Given the description of an element on the screen output the (x, y) to click on. 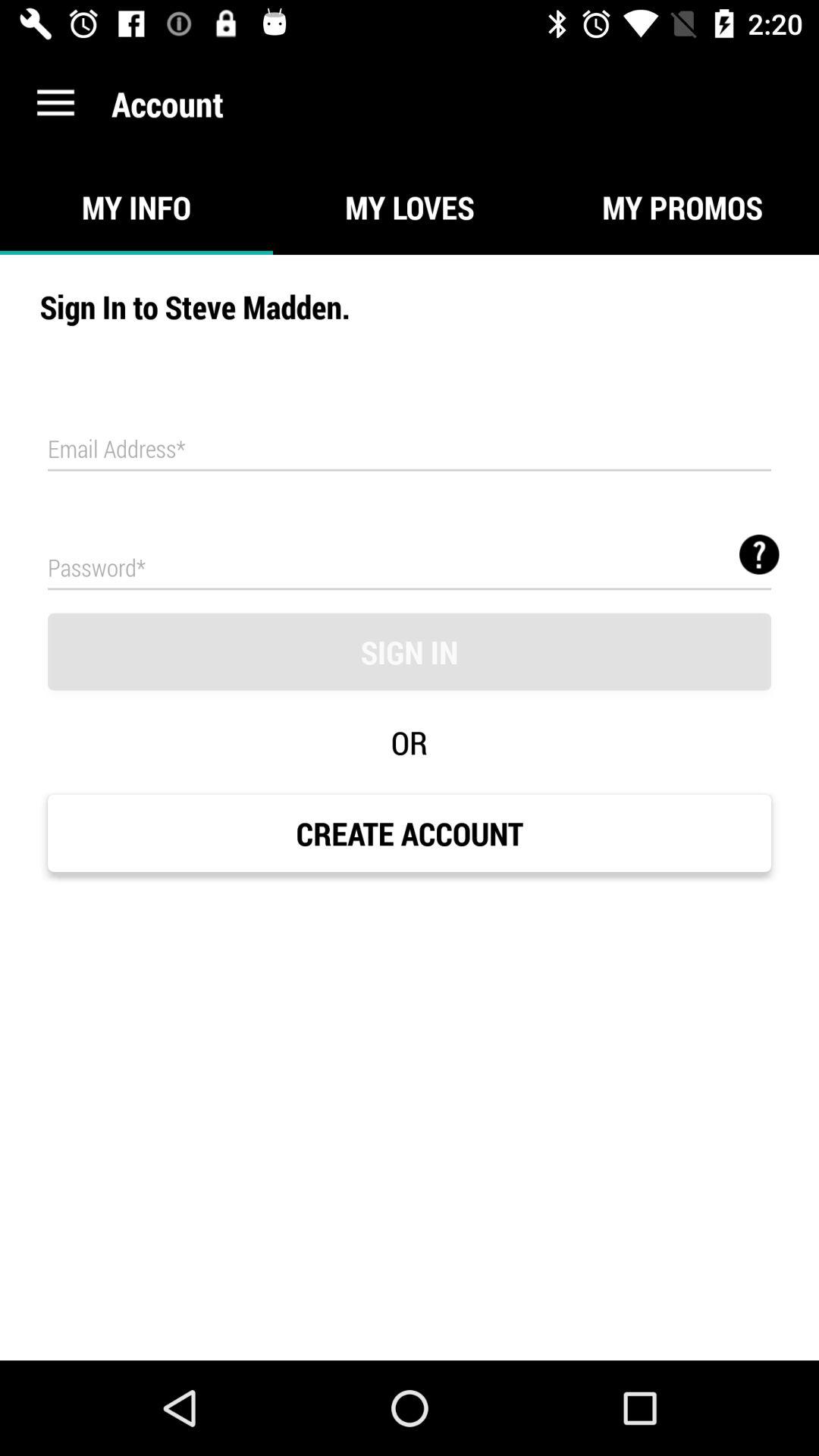
enter email address (409, 449)
